Given the description of an element on the screen output the (x, y) to click on. 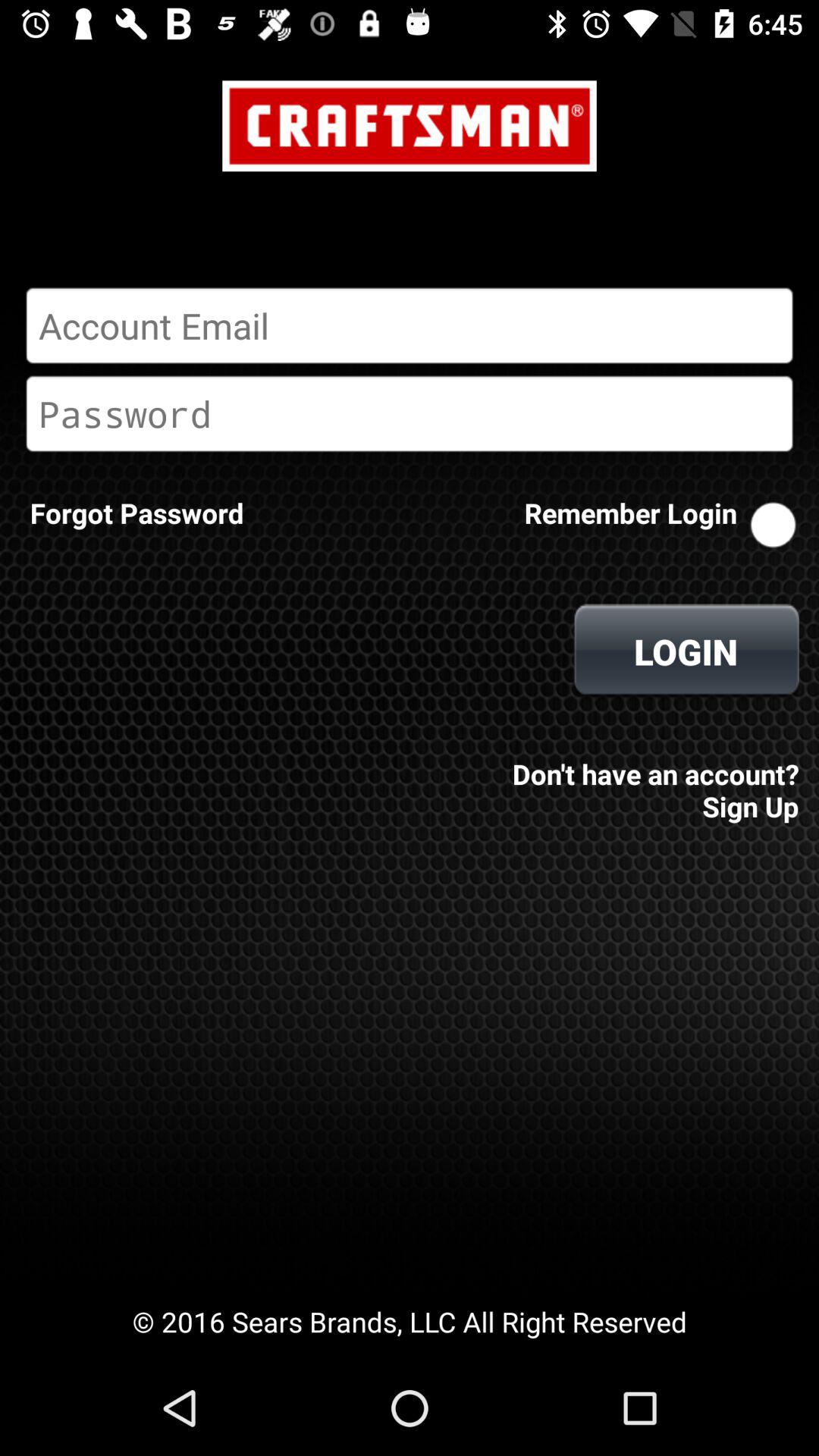
etc (409, 413)
